Given the description of an element on the screen output the (x, y) to click on. 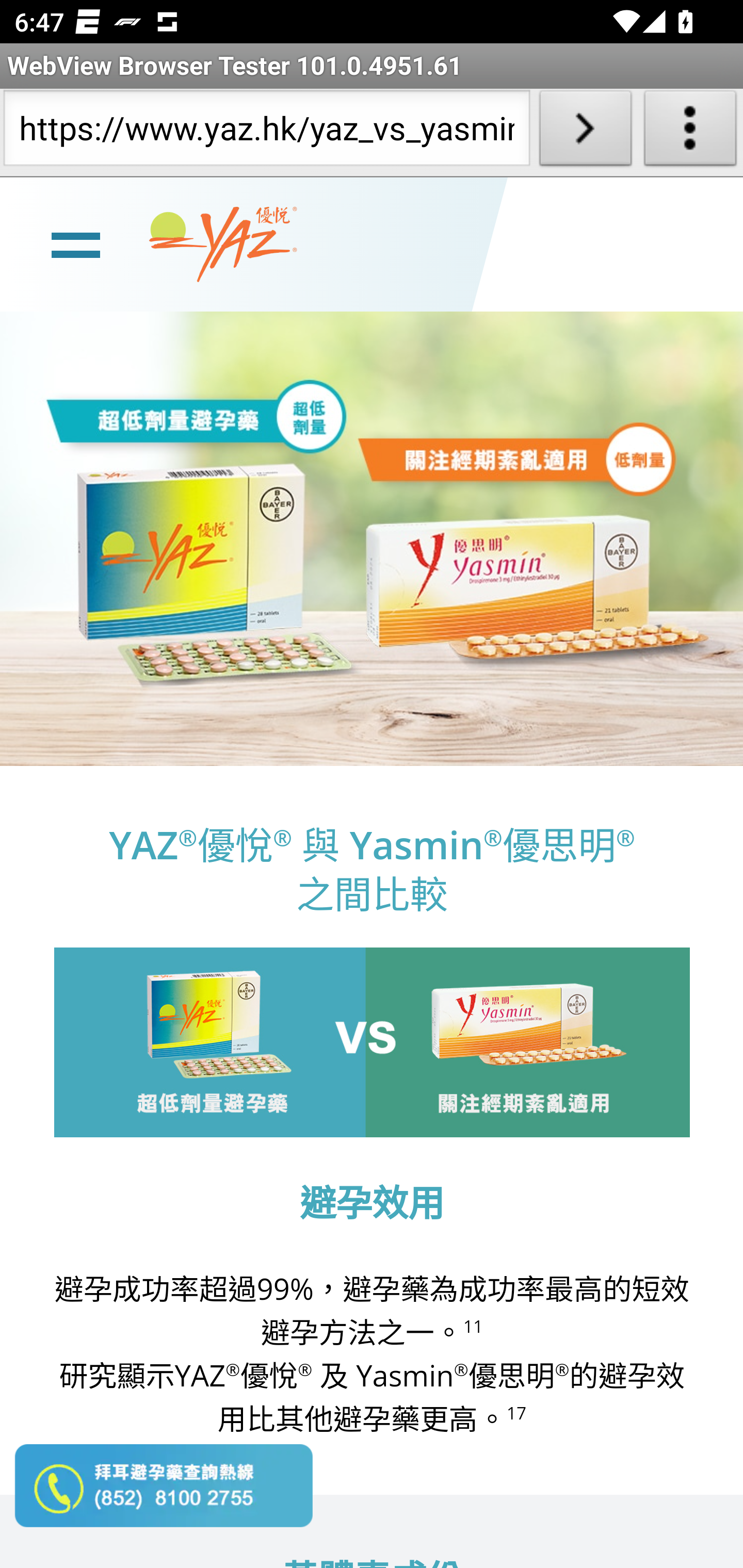
Load URL (585, 132)
About WebView (690, 132)
www.yaz (222, 244)
line Toggle burger menu (75, 242)
